Given the description of an element on the screen output the (x, y) to click on. 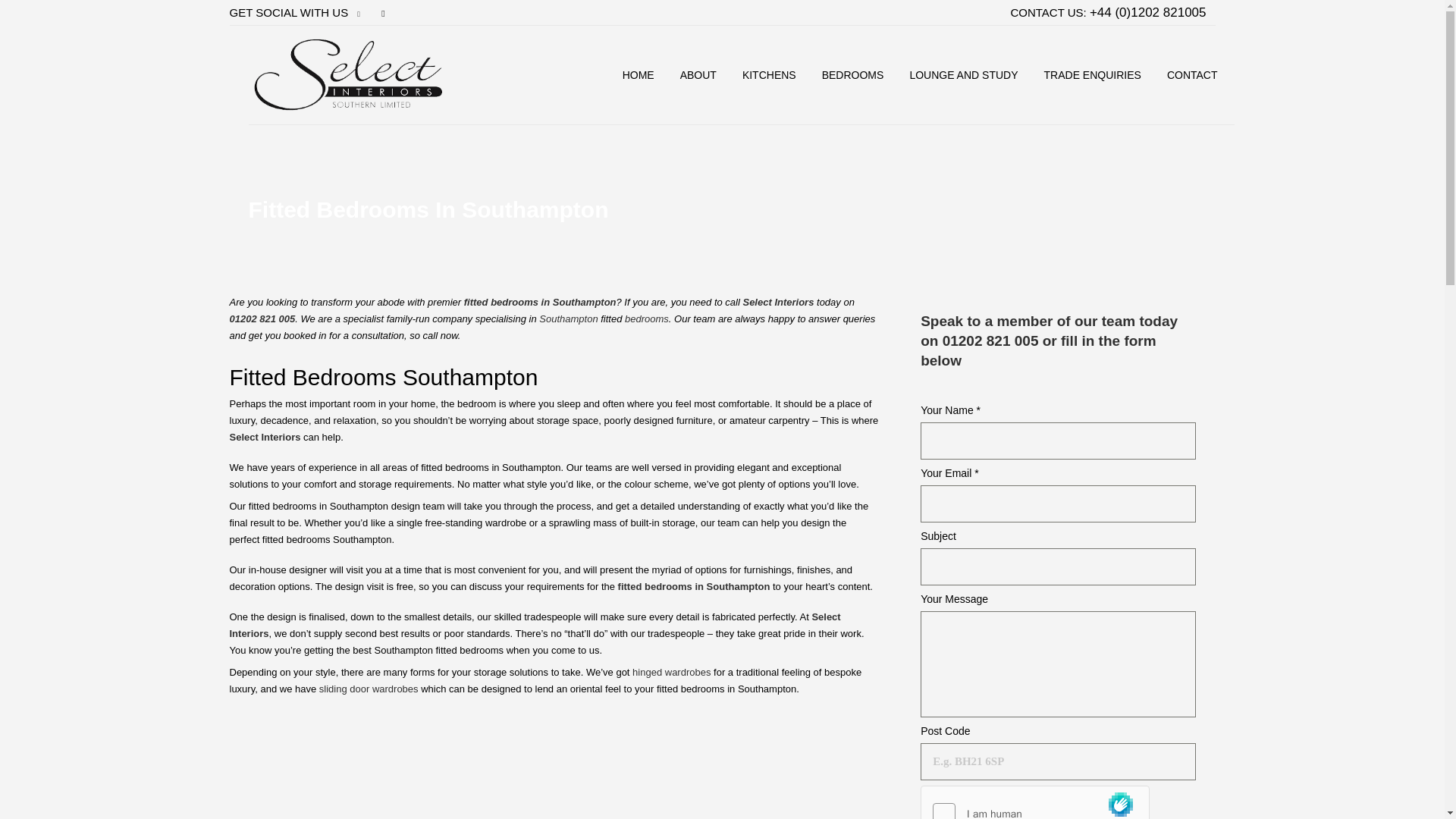
Select Interiors (534, 624)
01202 821 005 (261, 317)
sliding door wardrobes (368, 687)
fitted bedrooms in Southampton (693, 586)
fitted bedrooms in Southampton (539, 301)
TRADE ENQUIRIES (1092, 74)
Widget containing checkbox for hCaptcha security challenge (1035, 802)
Select Interiors (777, 301)
bedrooms (646, 317)
hinged wardrobes (670, 671)
BEDROOMS (852, 74)
LOUNGE AND STUDY (963, 74)
Southampton (567, 317)
Select Interiors (263, 436)
01202 821 005 (990, 340)
